Given the description of an element on the screen output the (x, y) to click on. 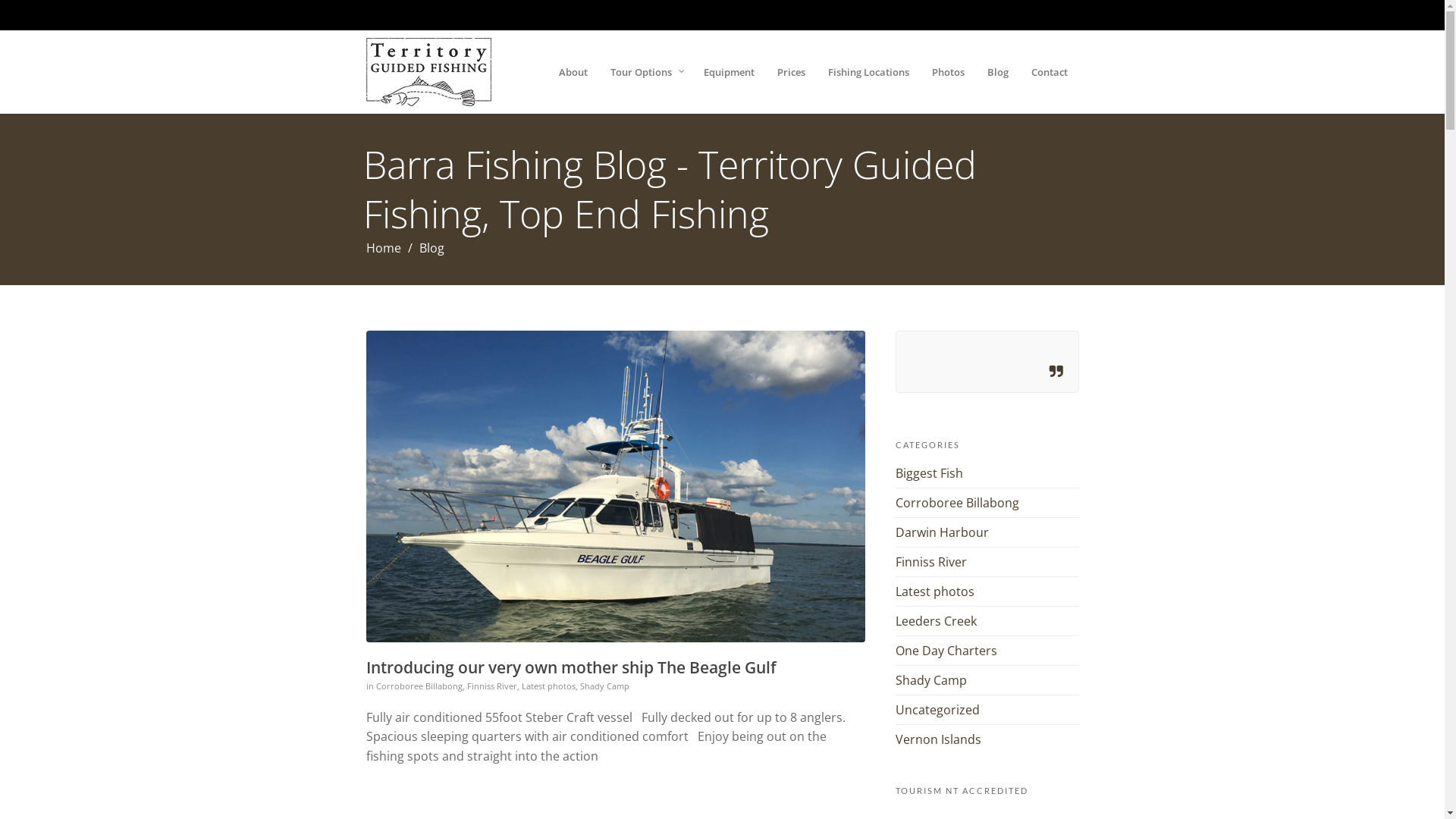
Equipment Element type: text (728, 81)
Contact Element type: text (1048, 81)
Blog Element type: text (997, 81)
Biggest Fish Element type: text (928, 472)
Tour Options Element type: text (637, 81)
Corroboree Billabong Element type: text (956, 502)
Uncategorized Element type: text (936, 709)
Prices Element type: text (790, 81)
Finniss River Element type: text (930, 561)
Introducing our very own mother ship The Beagle Gulf Element type: text (570, 666)
Photos Element type: text (947, 81)
Vernon Islands Element type: text (937, 739)
Shady Camp Element type: text (603, 685)
Latest photos Element type: text (548, 685)
Finniss River Element type: text (492, 685)
One Day Charters Element type: text (945, 650)
Shady Camp Element type: text (930, 679)
Latest photos Element type: text (933, 591)
Fishing Locations Element type: text (867, 81)
Corroboree Billabong Element type: text (419, 685)
Darwin Harbour Element type: text (941, 532)
Leeders Creek Element type: text (934, 620)
About Element type: text (573, 81)
Home Element type: text (382, 247)
